Given the description of an element on the screen output the (x, y) to click on. 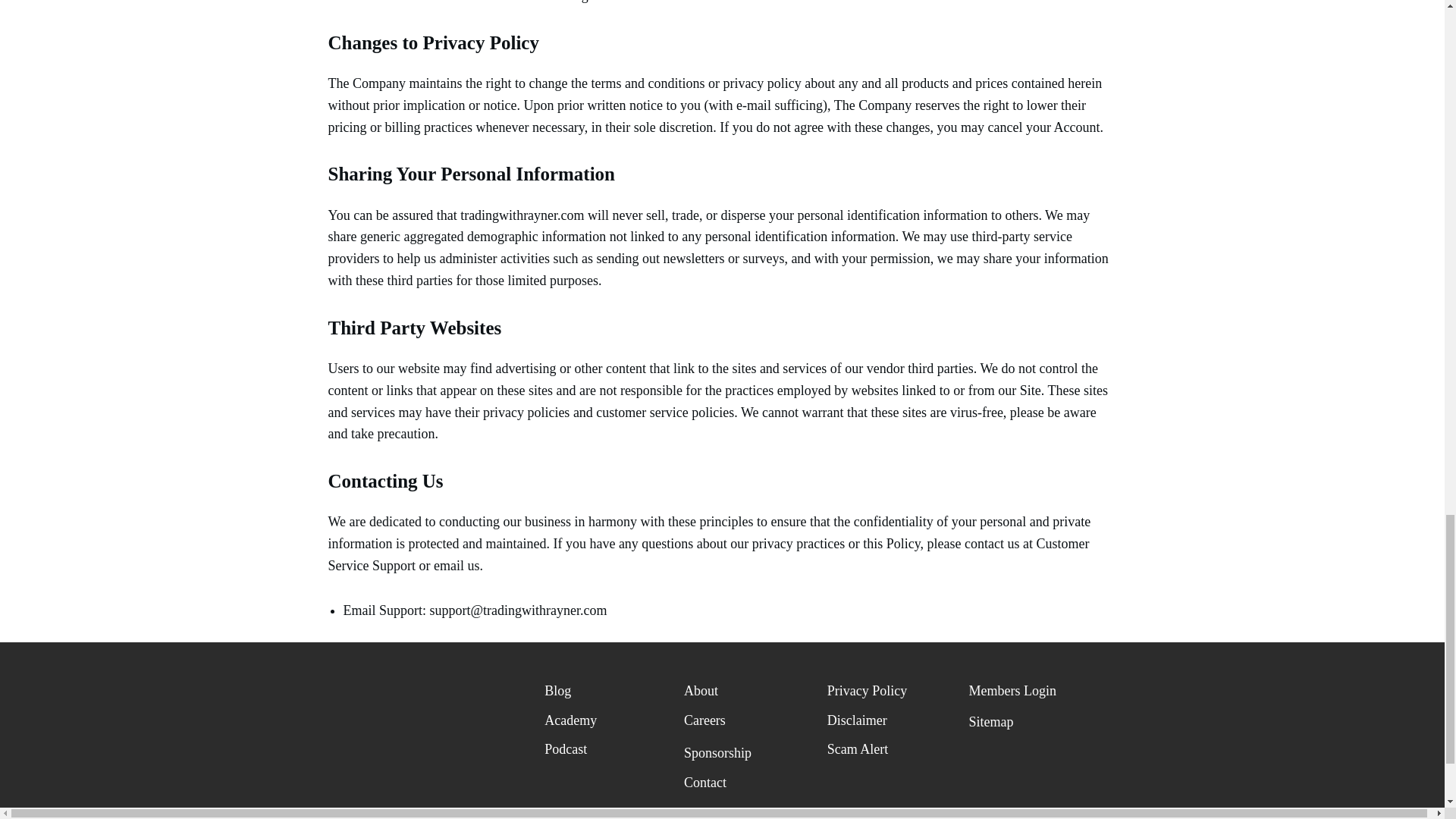
Blog (557, 690)
Academy (570, 720)
